Given the description of an element on the screen output the (x, y) to click on. 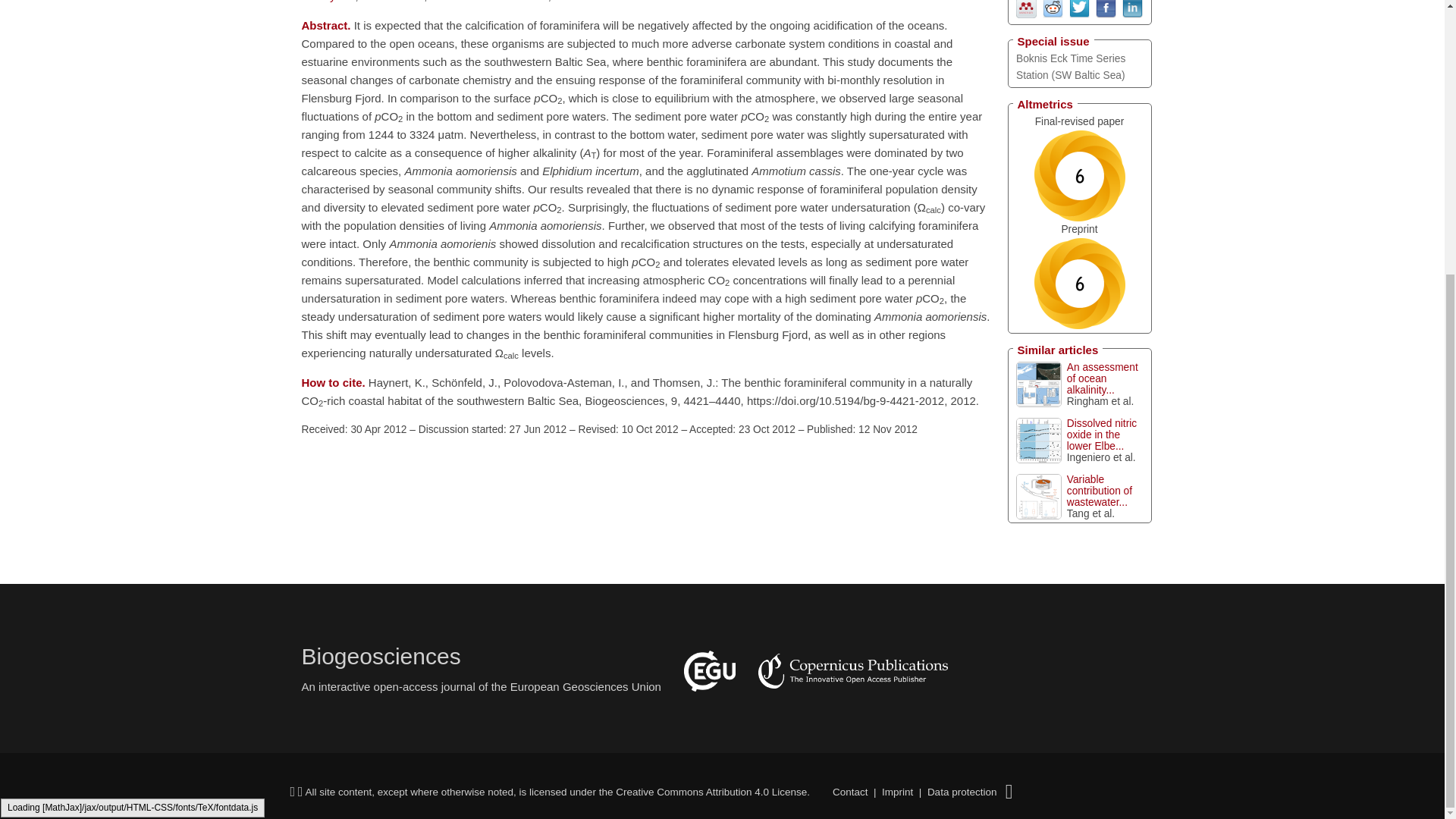
Reddit (1052, 6)
Twitter (1078, 6)
Mendeley (1026, 6)
